Given the description of an element on the screen output the (x, y) to click on. 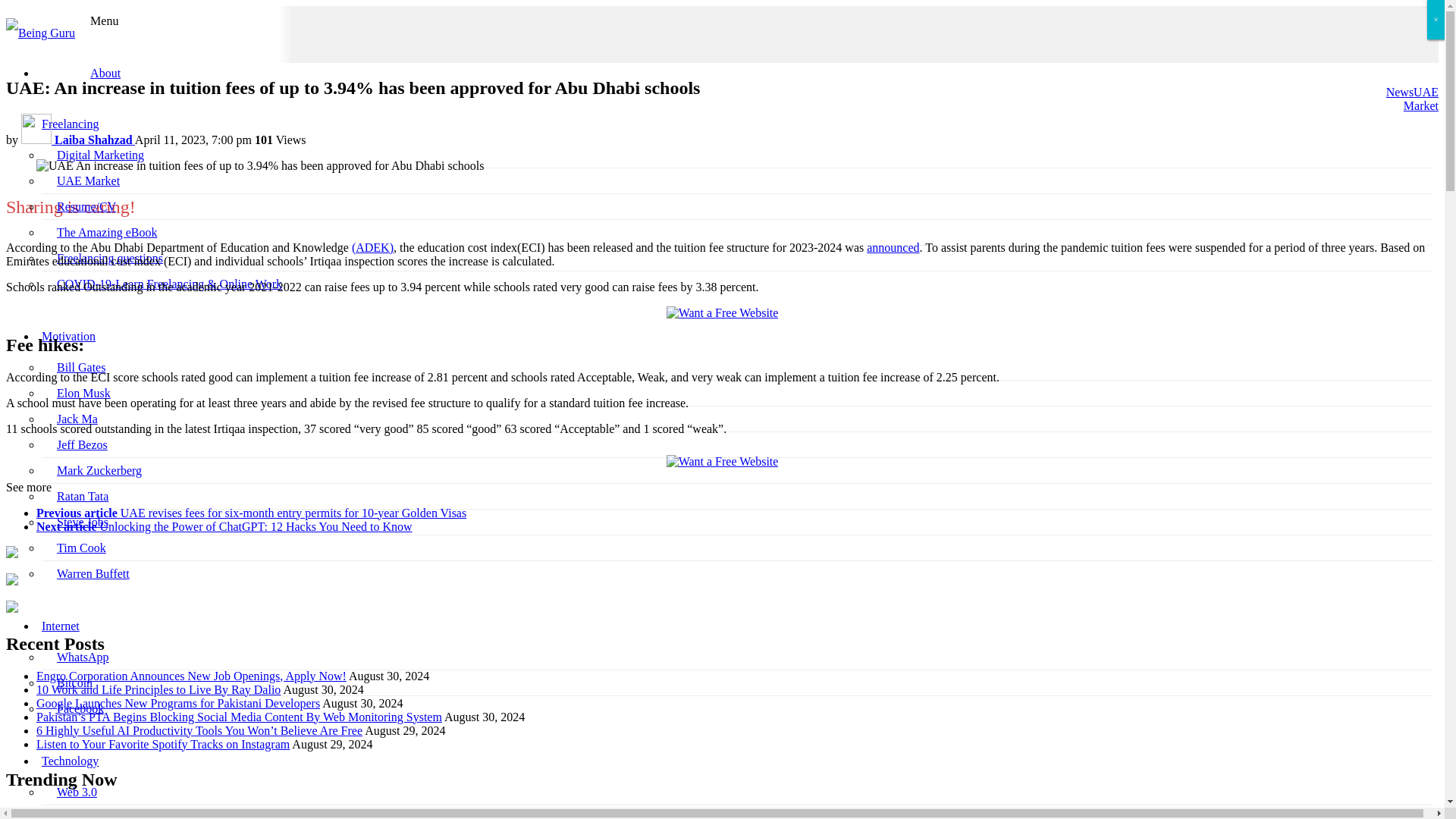
Want a Free Website (722, 461)
Menu (103, 20)
Want a Free Website (722, 313)
Freelancing (70, 123)
Motivation (69, 336)
About (105, 72)
Technology (70, 760)
Posts by Laiba Shahzad (78, 139)
Internet (61, 625)
UAE announces a price increase for Golden Visas (892, 246)
